Given the description of an element on the screen output the (x, y) to click on. 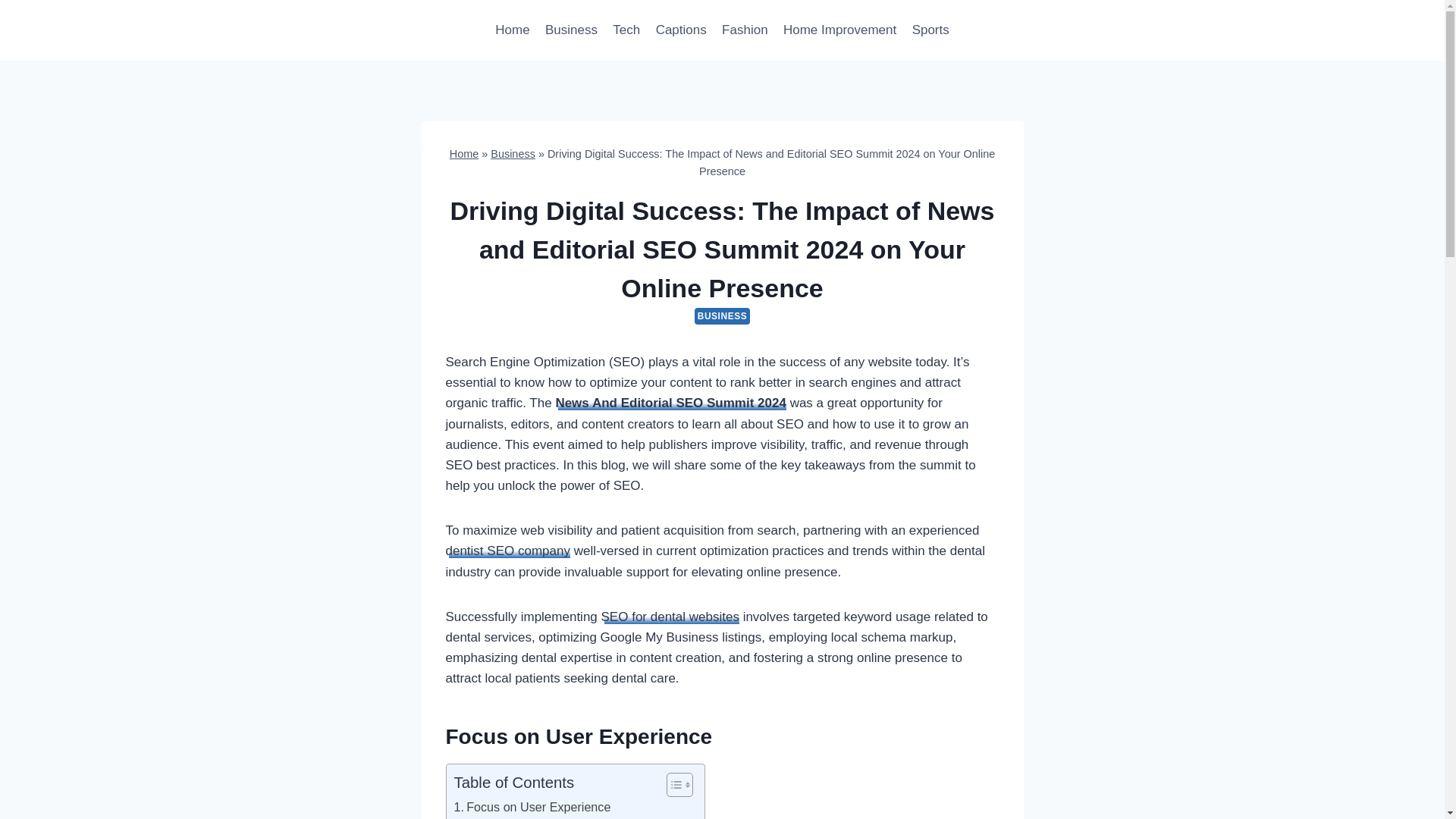
Keywords are Still Essential (534, 817)
Fashion (745, 30)
Business (571, 30)
BUSINESS (722, 315)
Home (464, 153)
SEO for dental websites (670, 616)
Captions (680, 30)
Focus on User Experience (531, 807)
Focus on User Experience (531, 807)
News And Editorial SEO Summit 2024 (670, 402)
Keywords are Still Essential (534, 817)
dentist SEO company (507, 550)
Business (512, 153)
Home Improvement (840, 30)
